Given the description of an element on the screen output the (x, y) to click on. 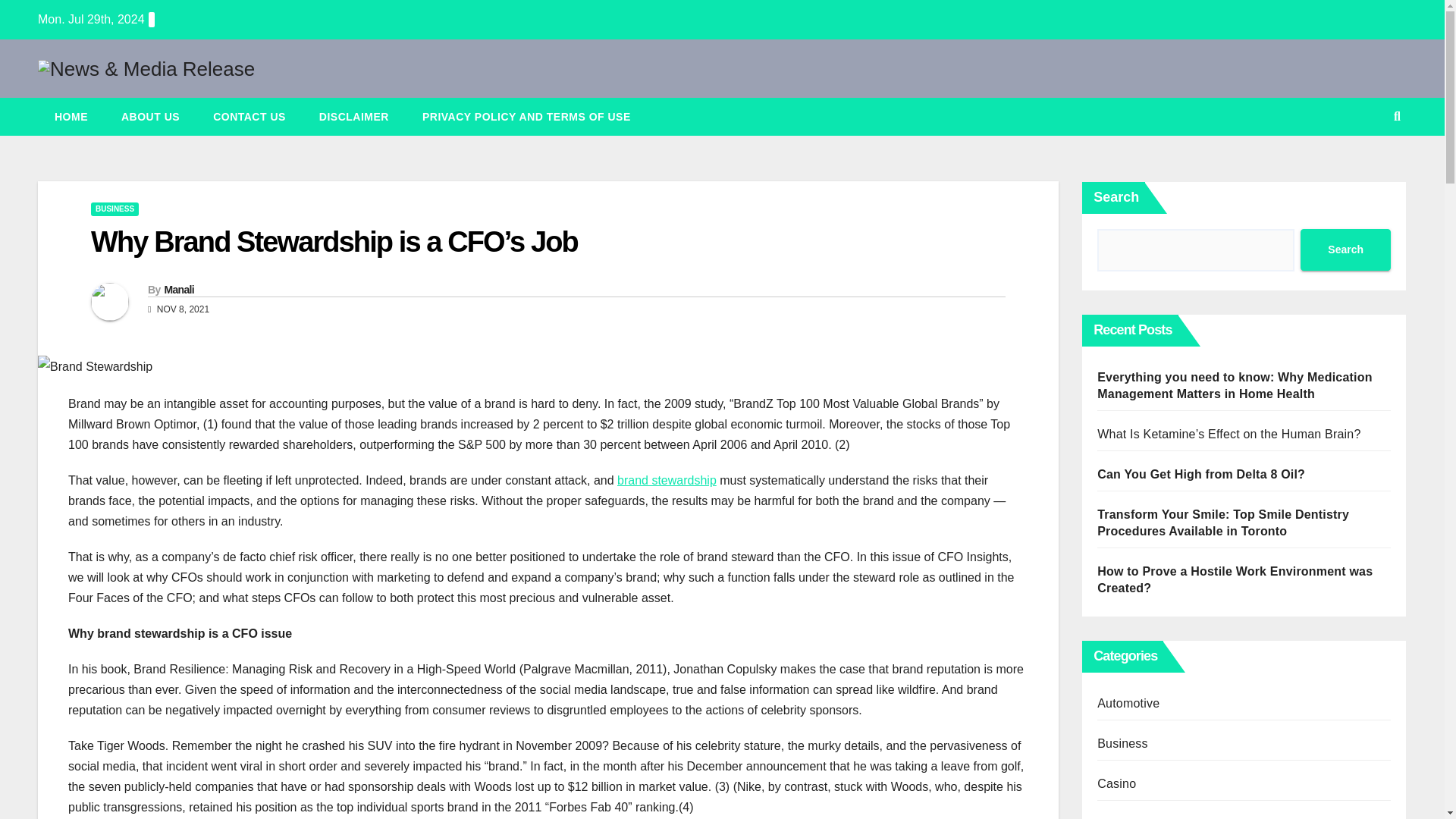
DISCLAIMER (354, 116)
CONTACT US (249, 116)
Home (70, 116)
BUSINESS (114, 209)
brand stewardship (666, 480)
PRIVACY POLICY AND TERMS OF USE (526, 116)
HOME (70, 116)
ABOUT US (150, 116)
Manali (178, 289)
